Given the description of an element on the screen output the (x, y) to click on. 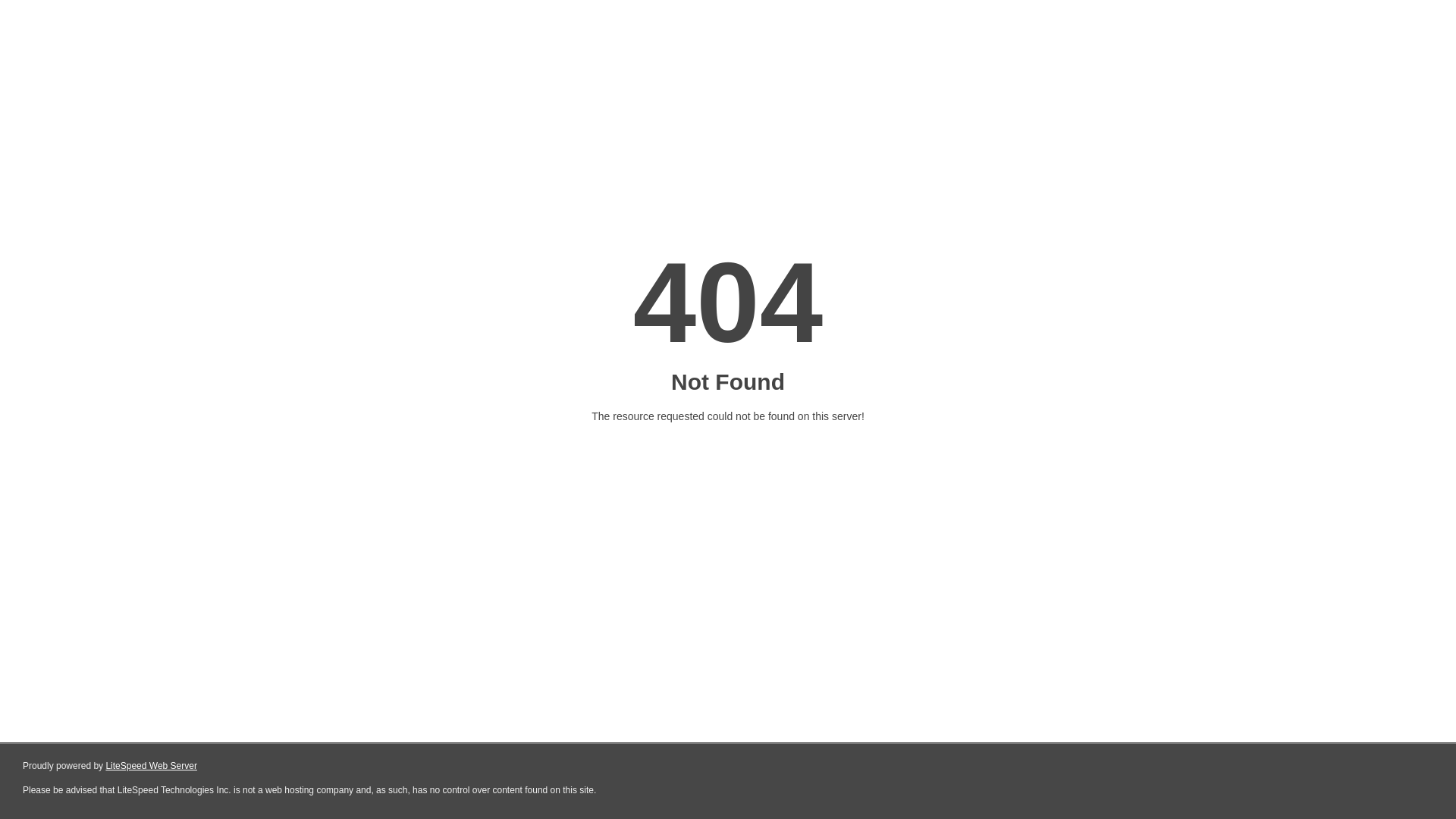
LiteSpeed Web Server Element type: text (151, 765)
